Given the description of an element on the screen output the (x, y) to click on. 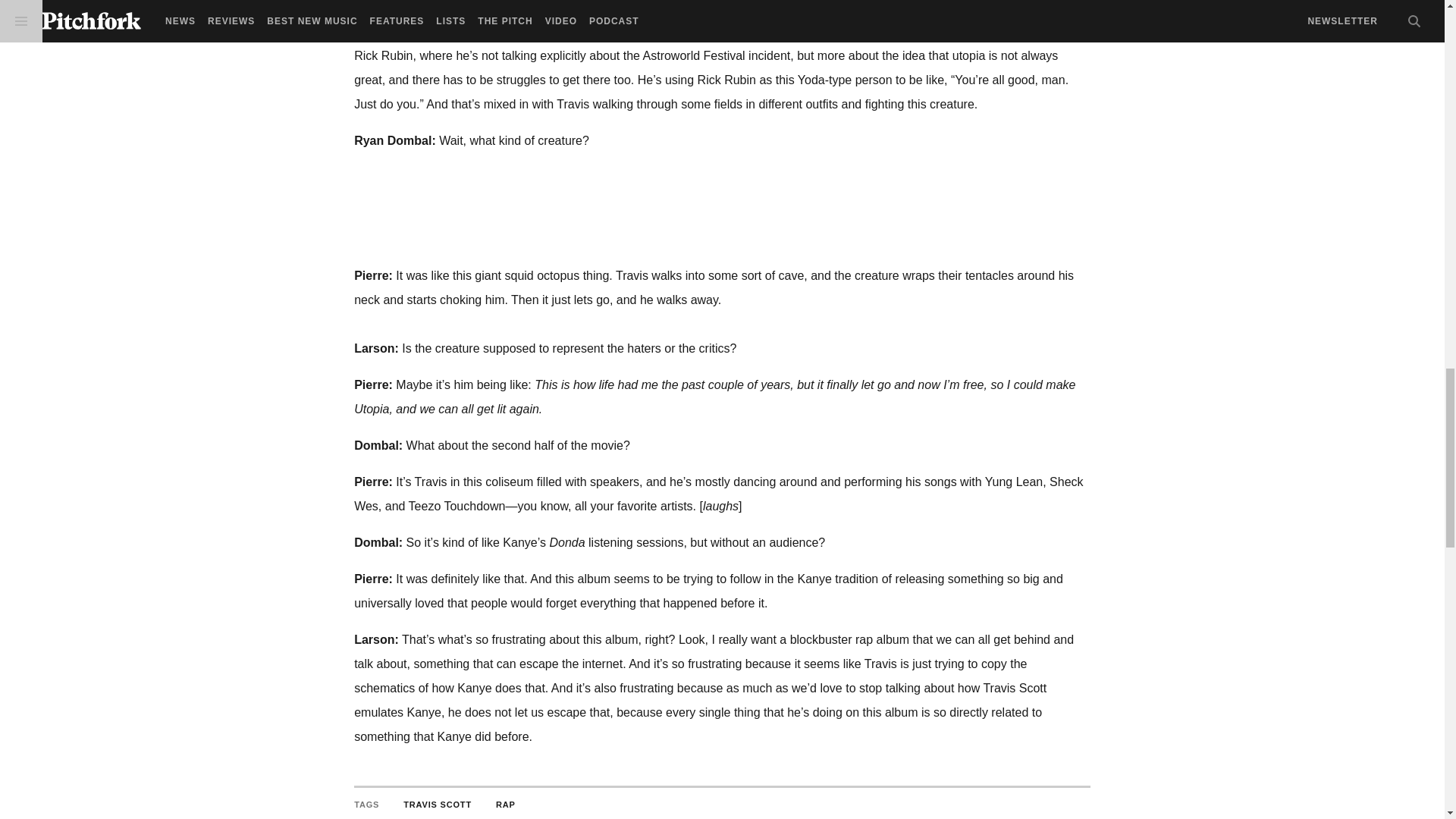
RAP (505, 804)
TRAVIS SCOTT (437, 804)
